Given the description of an element on the screen output the (x, y) to click on. 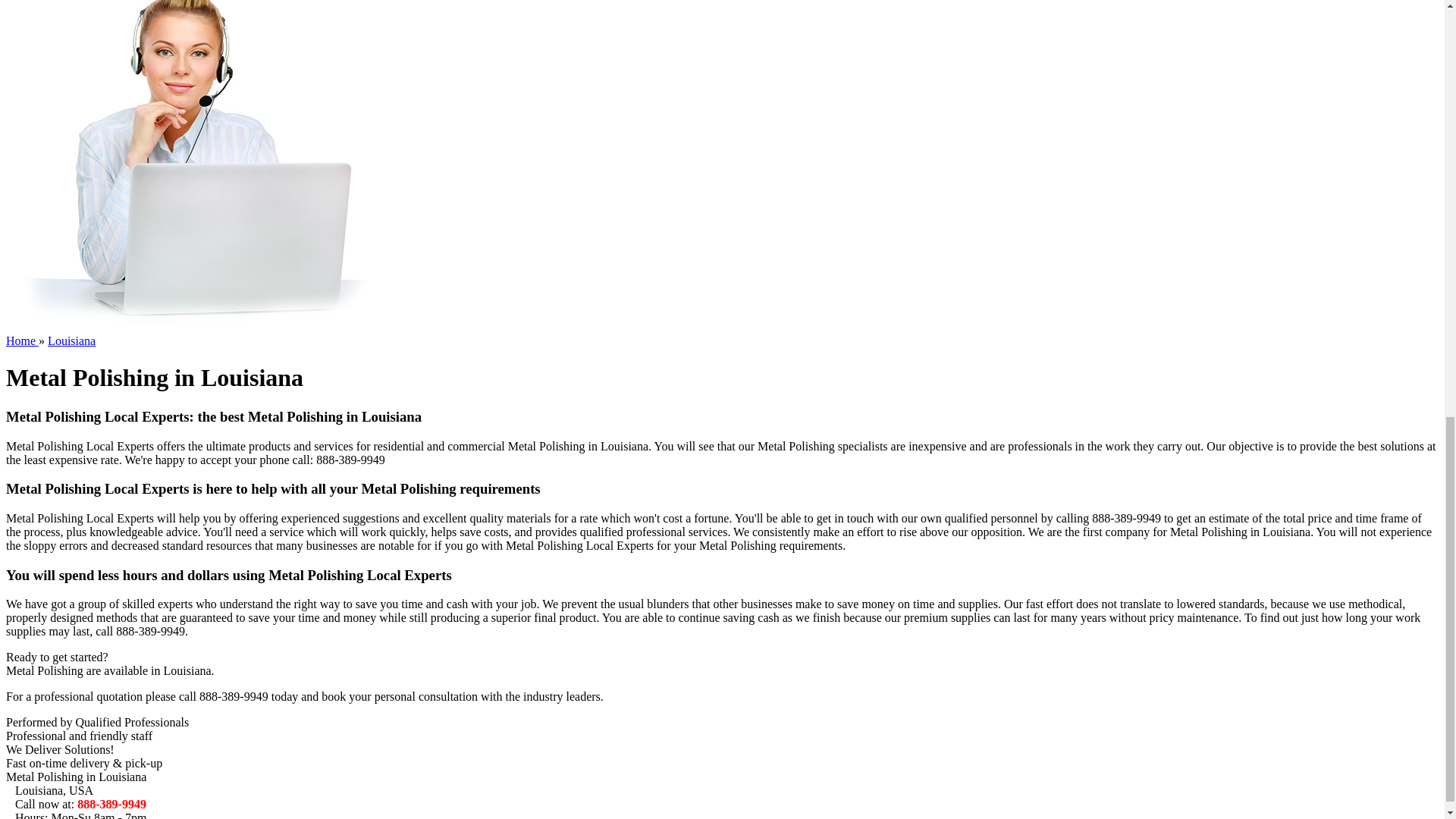
Louisiana (72, 340)
Home (22, 340)
